Given the description of an element on the screen output the (x, y) to click on. 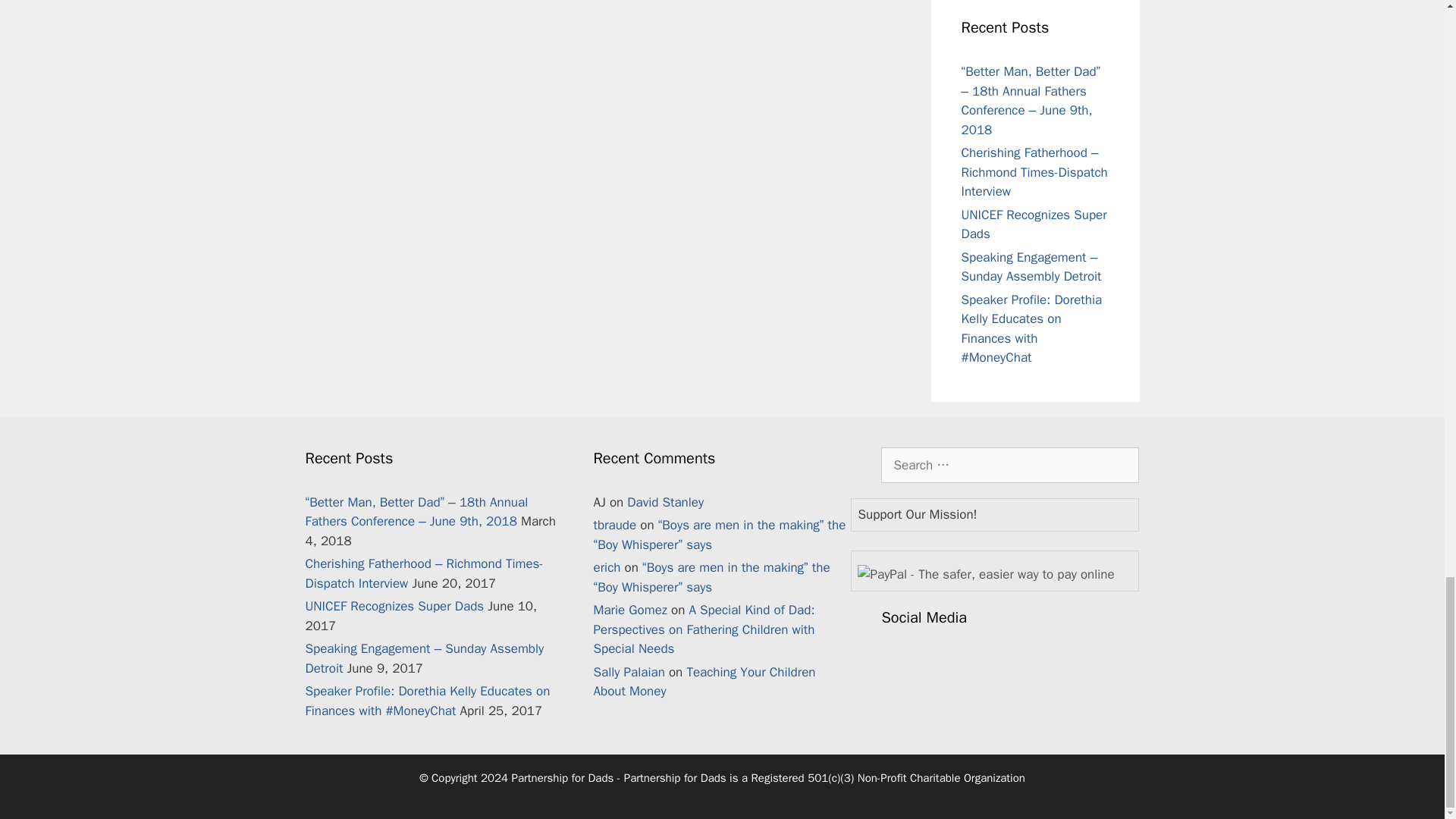
Search for: (1009, 465)
